Given the description of an element on the screen output the (x, y) to click on. 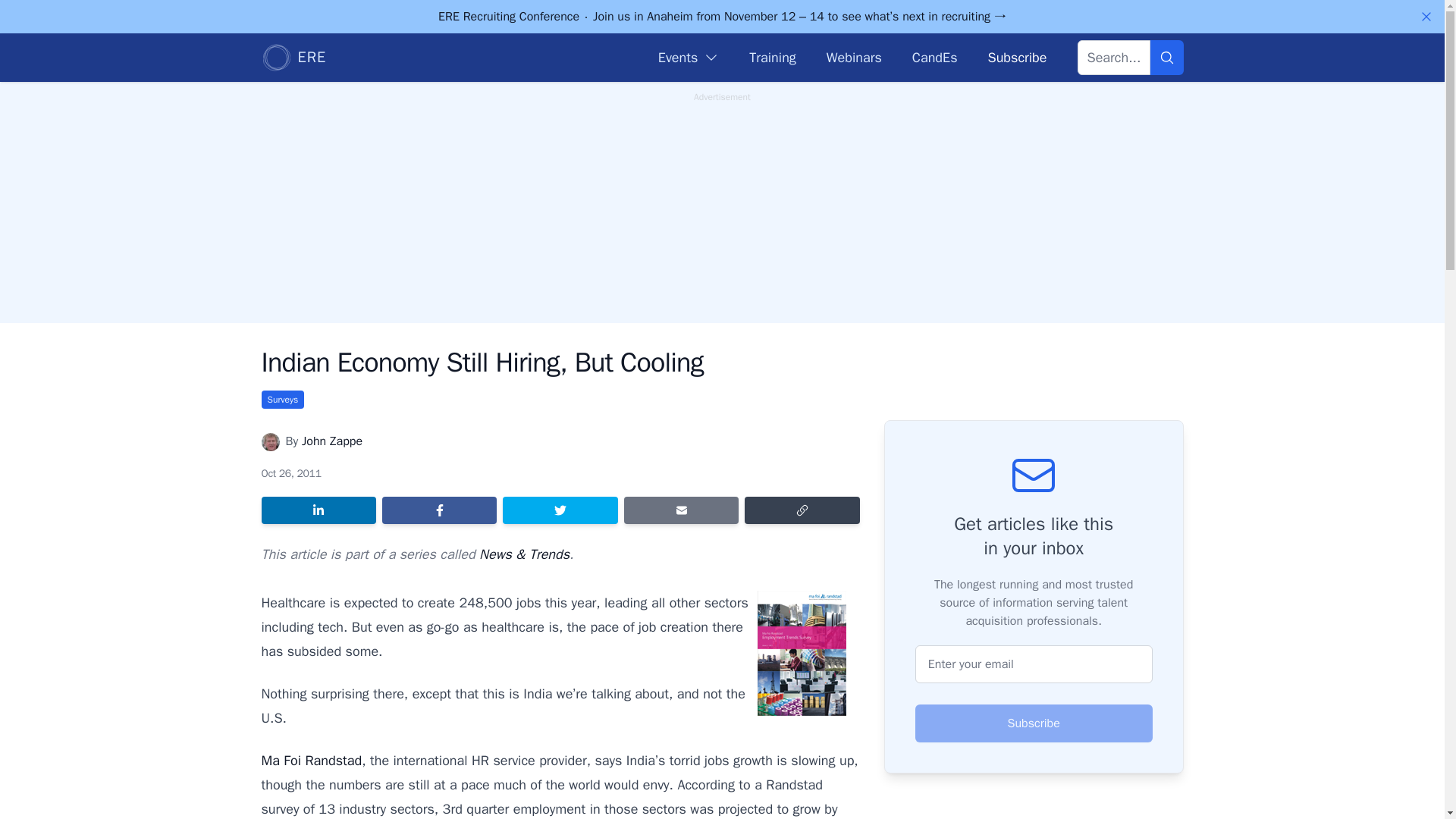
John Zappe (331, 441)
Webinars (854, 56)
Subscribe (1016, 56)
Dismiss (1425, 16)
Subscribe (1034, 723)
Events (688, 56)
ERE (293, 57)
CandEs (935, 56)
Ma Foi Randstad (310, 760)
Training (771, 56)
Surveys (282, 399)
Randstad India 3rd Q (801, 652)
